Given the description of an element on the screen output the (x, y) to click on. 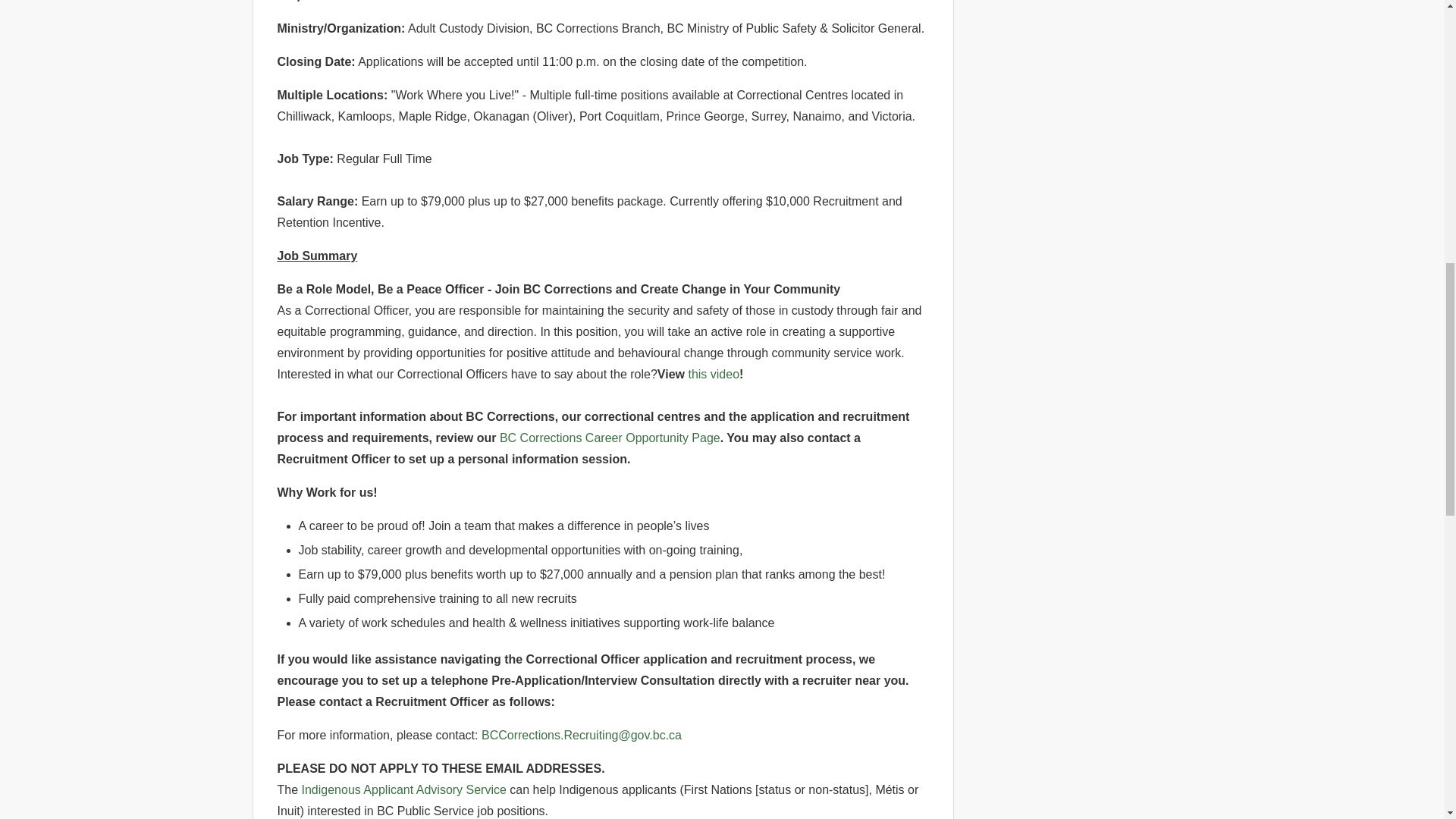
Indigenous Applicant Advisory Service (403, 789)
this video (713, 373)
BC Corrections Career Opportunity Page (609, 437)
